Given the description of an element on the screen output the (x, y) to click on. 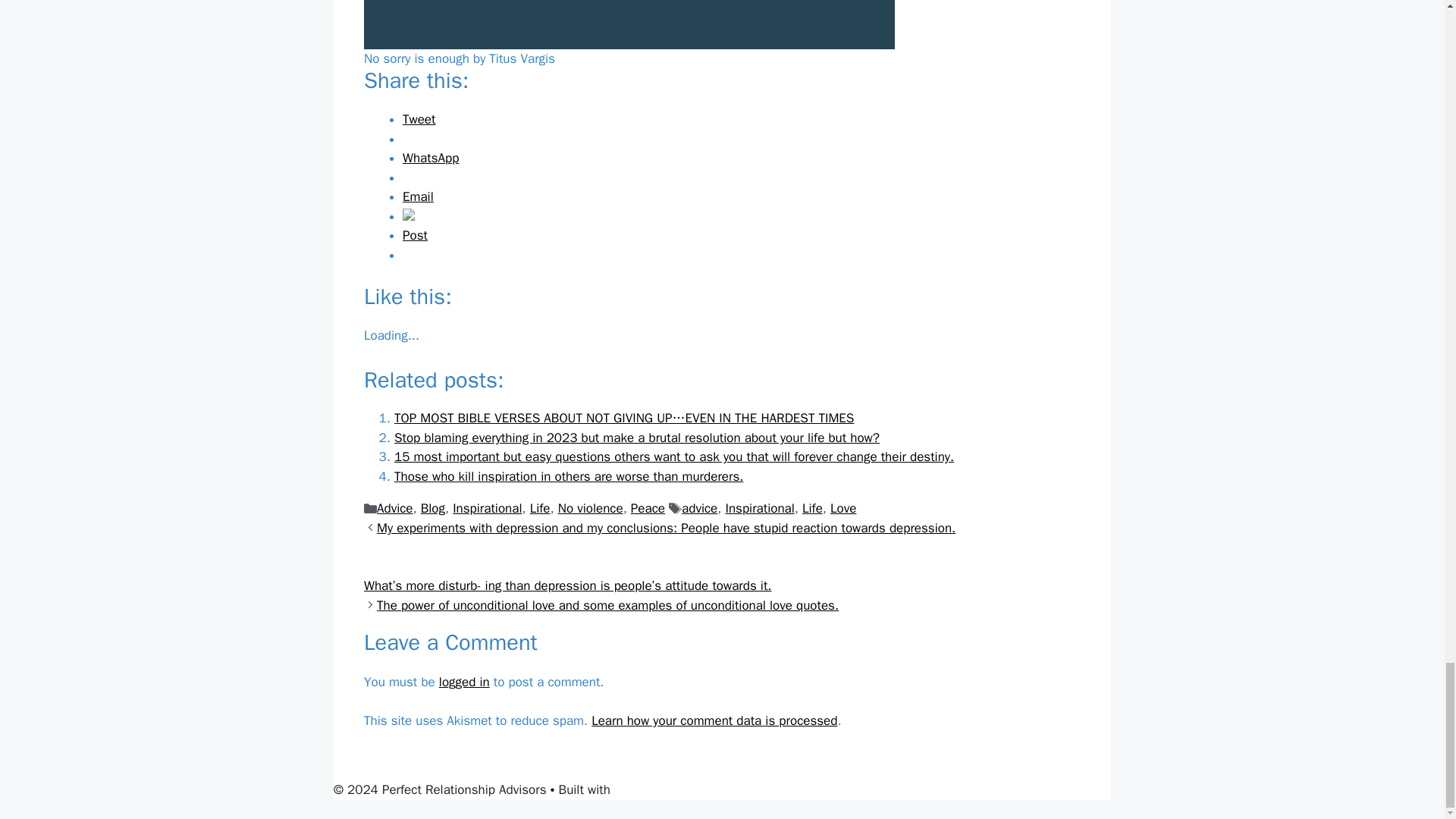
WhatsApp (430, 157)
logged in (464, 682)
Click to share on WhatsApp (430, 157)
Blog (432, 508)
GeneratePress (655, 789)
Post (415, 235)
Email (418, 196)
Love (842, 508)
